Given the description of an element on the screen output the (x, y) to click on. 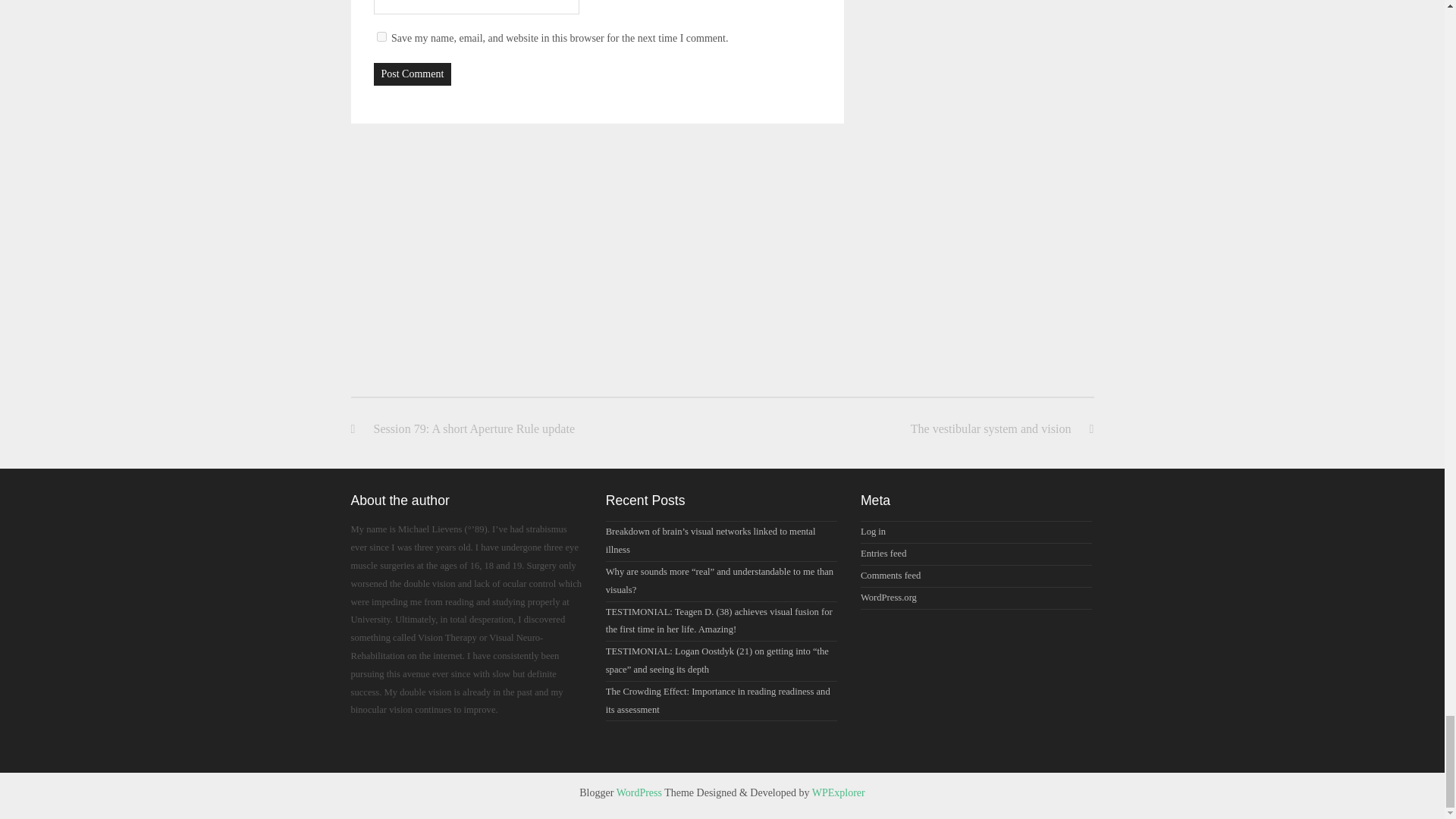
WordPress (638, 792)
Post Comment (411, 74)
yes (380, 36)
WPExplorer (838, 792)
